Given the description of an element on the screen output the (x, y) to click on. 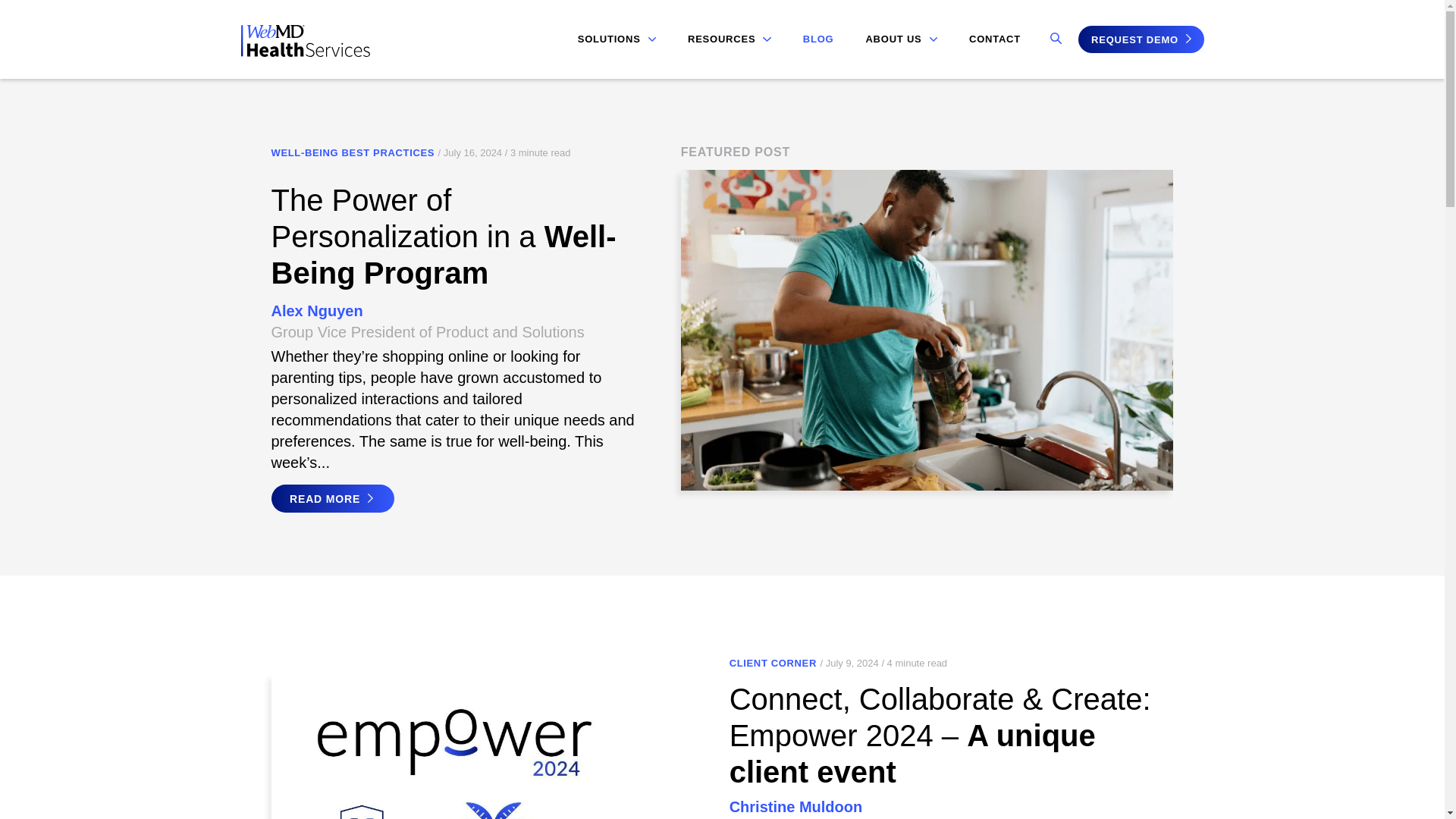
Alex Nguyen (316, 311)
CONTACT (994, 39)
REQUEST DEMO (1141, 39)
WELL-BEING BEST PRACTICES (352, 152)
Posts by Alex Nguyen (316, 311)
READ MORE (332, 498)
The Power of Personalization in a Well-Being Program (442, 236)
RESOURCES (729, 39)
Posts by Christine Muldoon (796, 806)
SOLUTIONS (616, 39)
Christine Muldoon (796, 806)
ABOUT US (900, 39)
WebMD Health Services (305, 51)
CLIENT CORNER (772, 663)
